Given the description of an element on the screen output the (x, y) to click on. 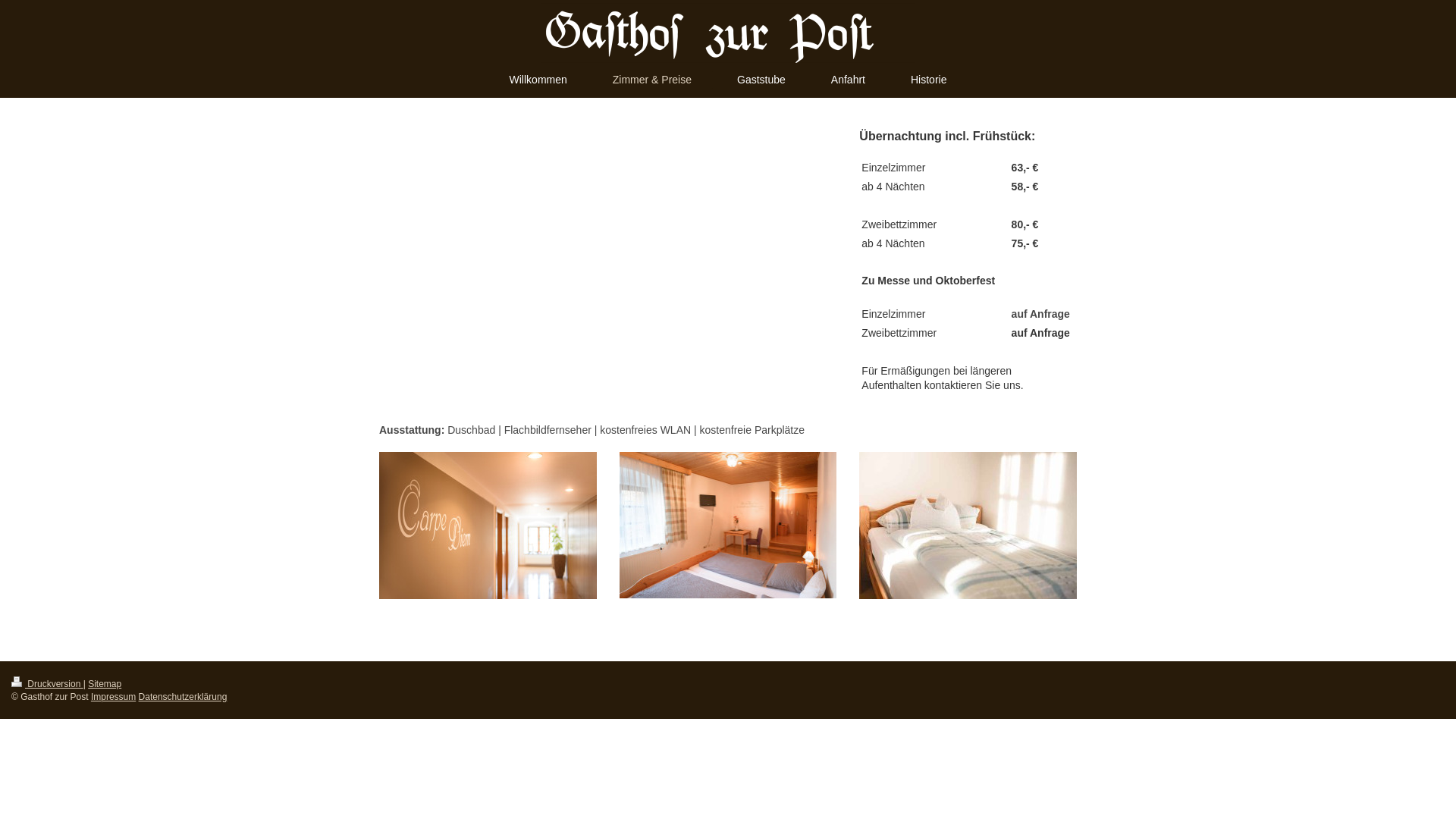
Zimmer & Preise Element type: text (651, 79)
Druckversion Element type: text (47, 683)
Gaststube Element type: text (760, 79)
Sitemap Element type: text (104, 683)
Anfahrt Element type: text (847, 79)
Willkommen Element type: text (538, 79)
Historie Element type: text (928, 79)
Impressum Element type: text (113, 696)
